Given the description of an element on the screen output the (x, y) to click on. 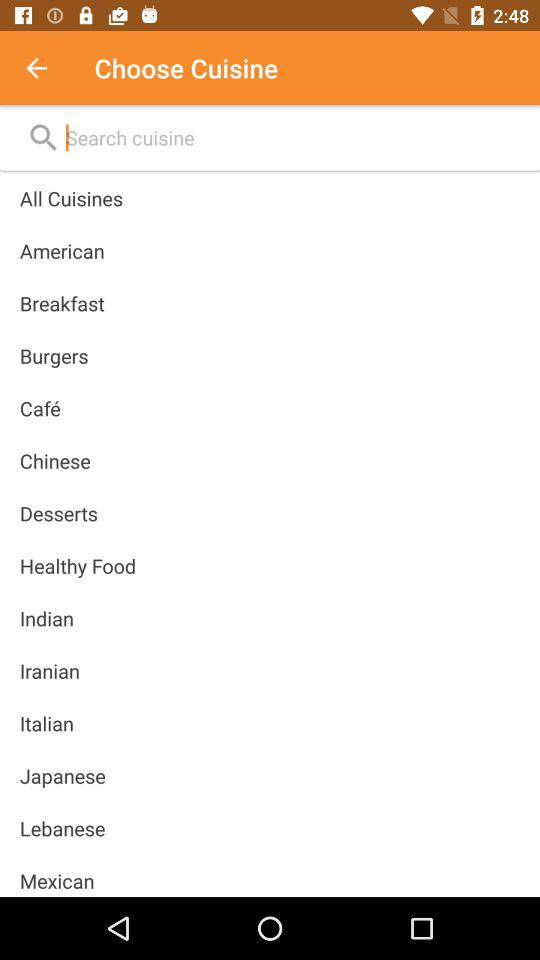
launch icon to the left of the choose cuisine icon (47, 68)
